Given the description of an element on the screen output the (x, y) to click on. 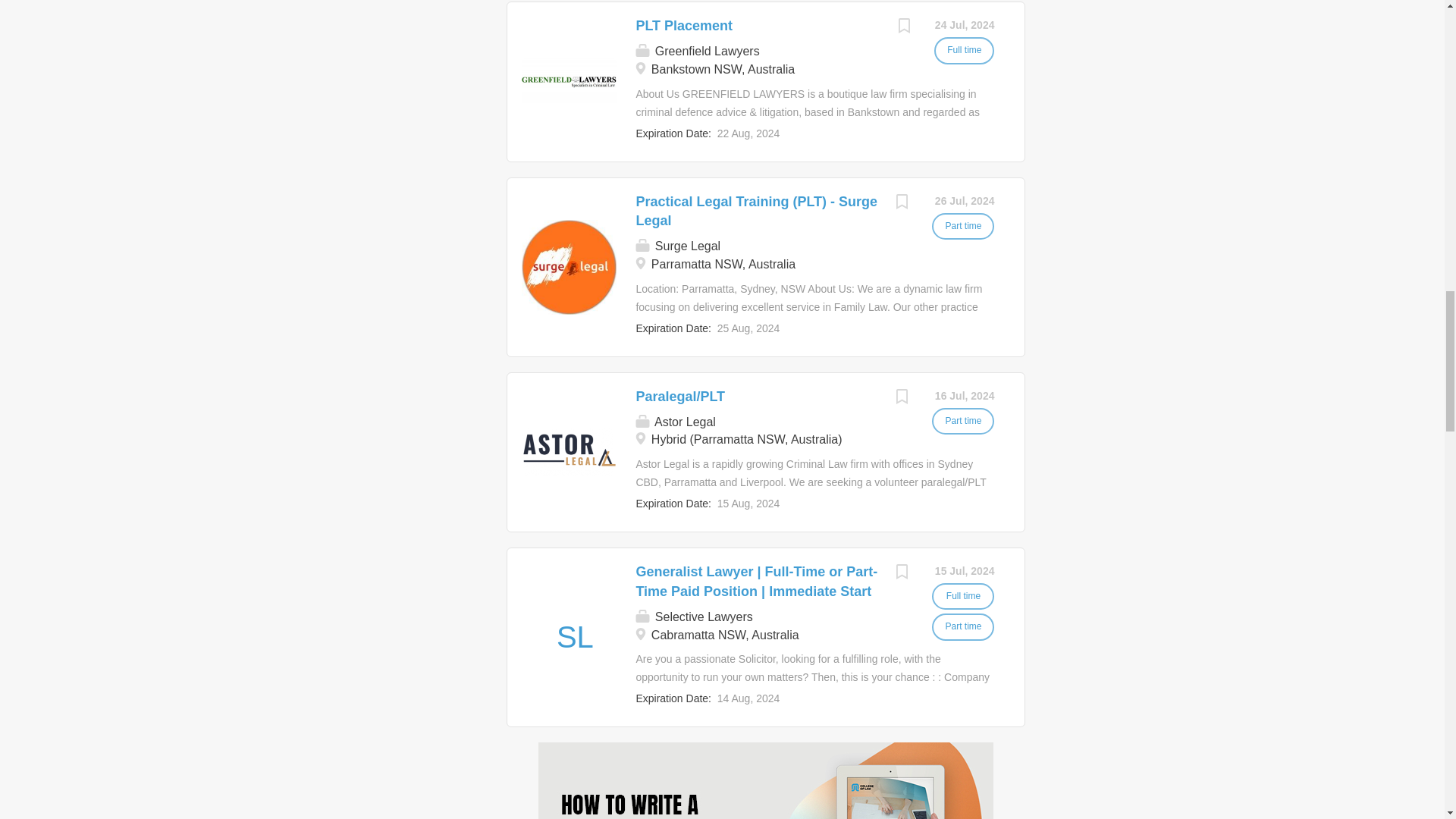
Selective Lawyers (574, 637)
